Given the description of an element on the screen output the (x, y) to click on. 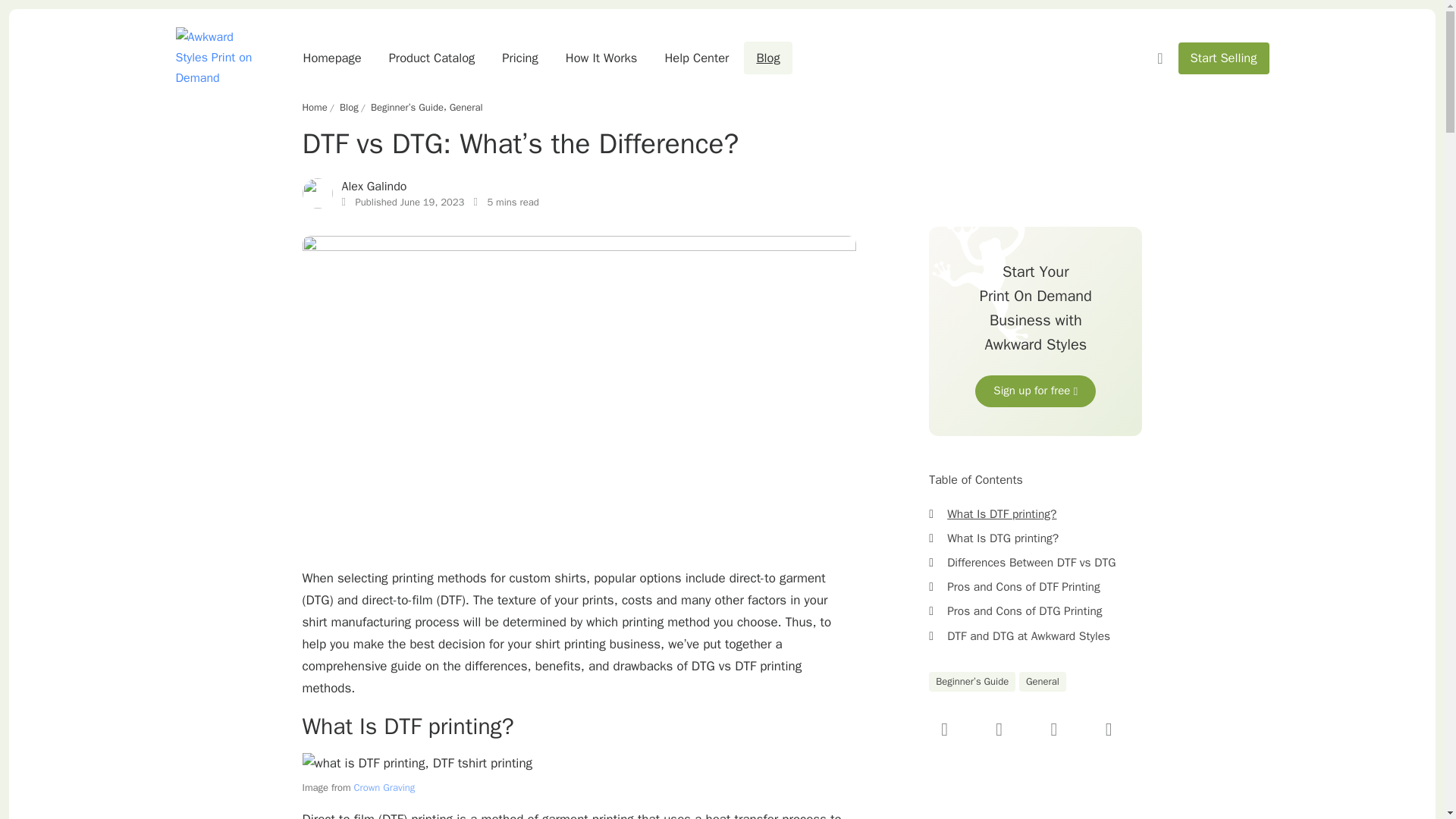
General (466, 107)
Help Center (696, 57)
Blog (768, 57)
Product Catalog (432, 57)
How It Works (601, 57)
What Is DTF printing? (1002, 513)
Homepage (332, 57)
Home (313, 107)
What Is DTG printing? (1002, 538)
Start Selling (1223, 58)
Sign up for free (1035, 391)
Pricing (519, 57)
Blog (348, 107)
Crown Graving (383, 787)
